Given the description of an element on the screen output the (x, y) to click on. 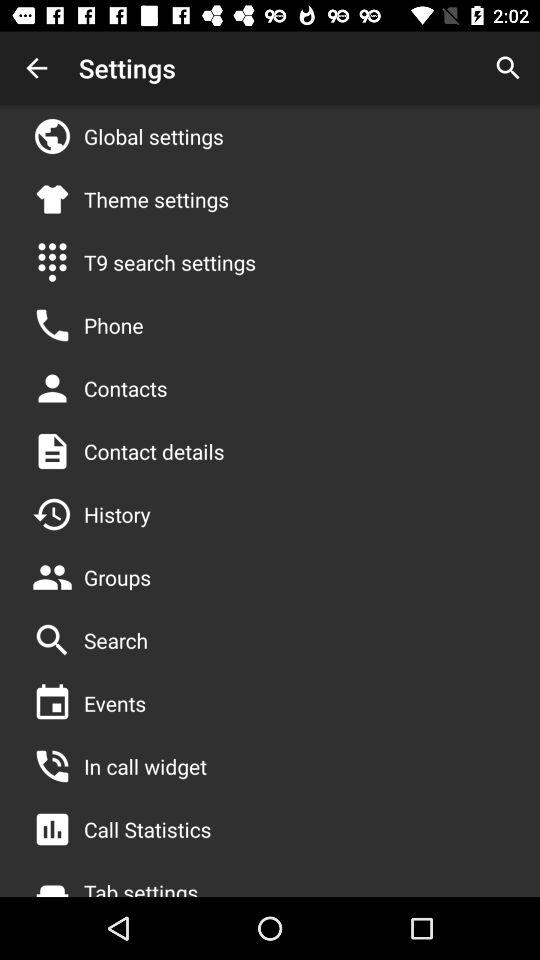
press app below t9 search settings (113, 325)
